Given the description of an element on the screen output the (x, y) to click on. 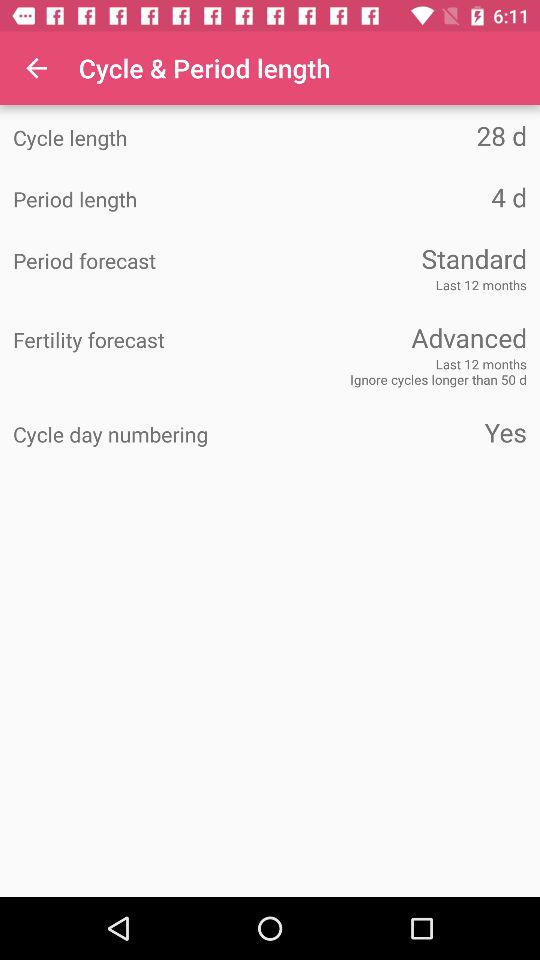
click the item next to cycle length item (398, 135)
